Given the description of an element on the screen output the (x, y) to click on. 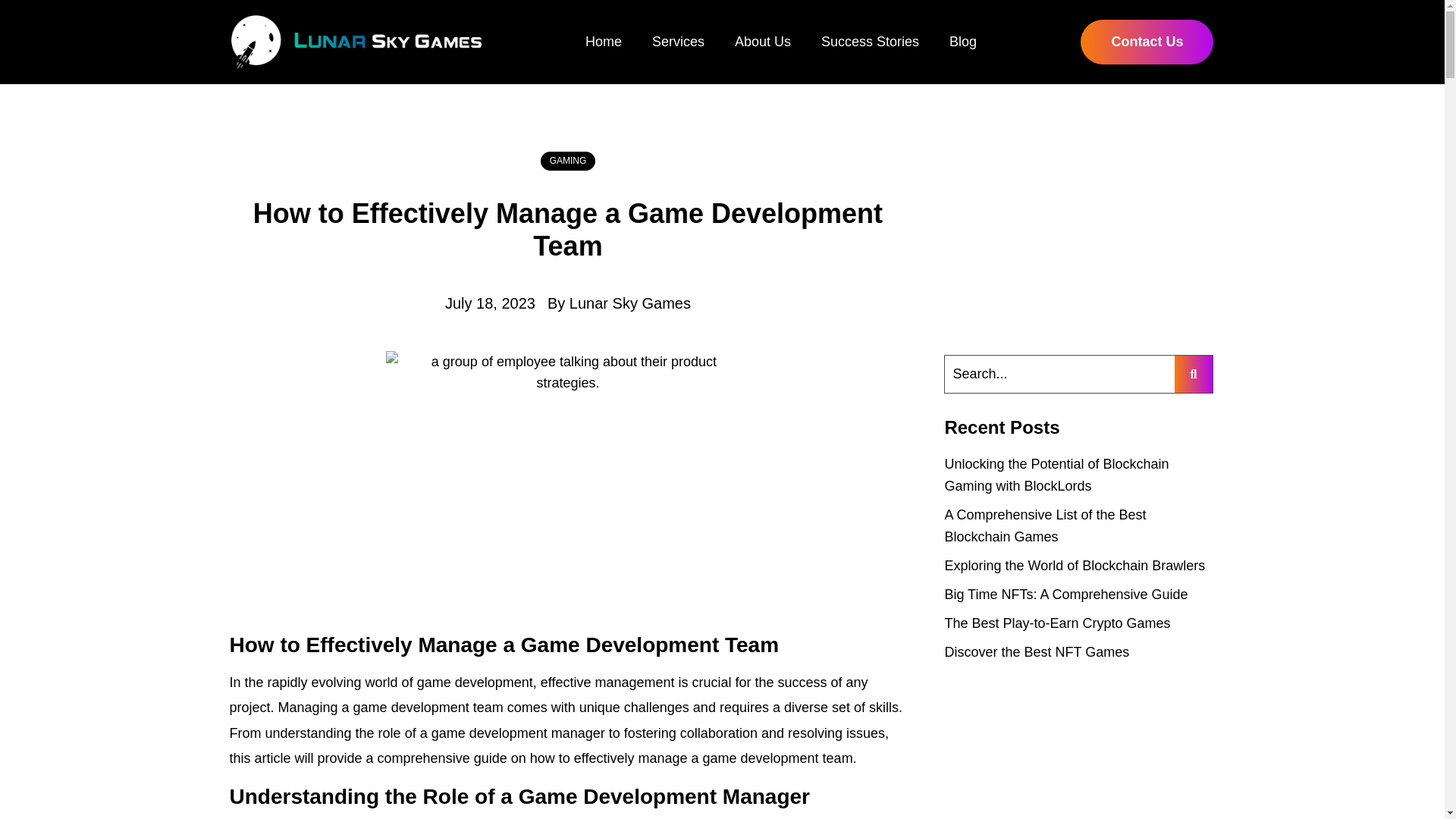
Discover the Best NFT Games  (1037, 652)
Big Time NFTs: A Comprehensive Guide (1065, 594)
Success Stories (869, 41)
Blog (962, 41)
About Us (762, 41)
Exploring the World of Blockchain Brawlers (1074, 565)
Unlocking the Potential of Blockchain Gaming with BlockLords (1056, 474)
Search (1059, 374)
Services (678, 41)
Contact Us (1146, 41)
A Comprehensive List of the Best Blockchain Games (1044, 525)
Home (603, 41)
The Best Play-to-Earn Crypto Games (1056, 622)
